Given the description of an element on the screen output the (x, y) to click on. 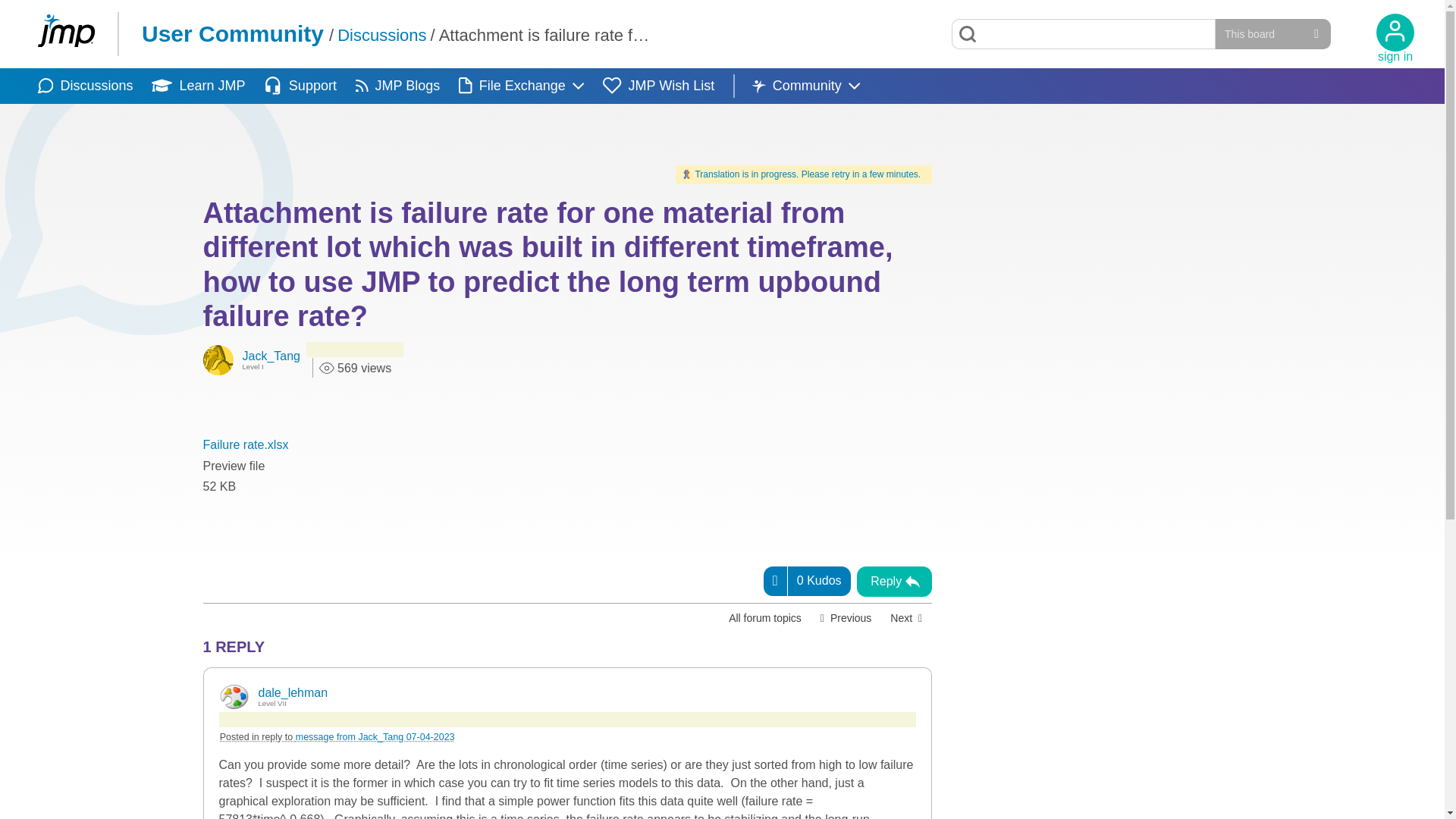
Learn JMP (197, 85)
JMP Blogs (397, 85)
JMP Wish List (658, 85)
Search (1083, 33)
Discussions (84, 85)
Search (967, 33)
User Community (232, 33)
Translation is in progress. Please retry in a few minutes. (803, 174)
Search (967, 33)
Discussions (381, 35)
Support (299, 85)
Search (967, 33)
The total number of kudos this post has received. (818, 580)
Search Granularity (1272, 33)
Community (806, 85)
